Given the description of an element on the screen output the (x, y) to click on. 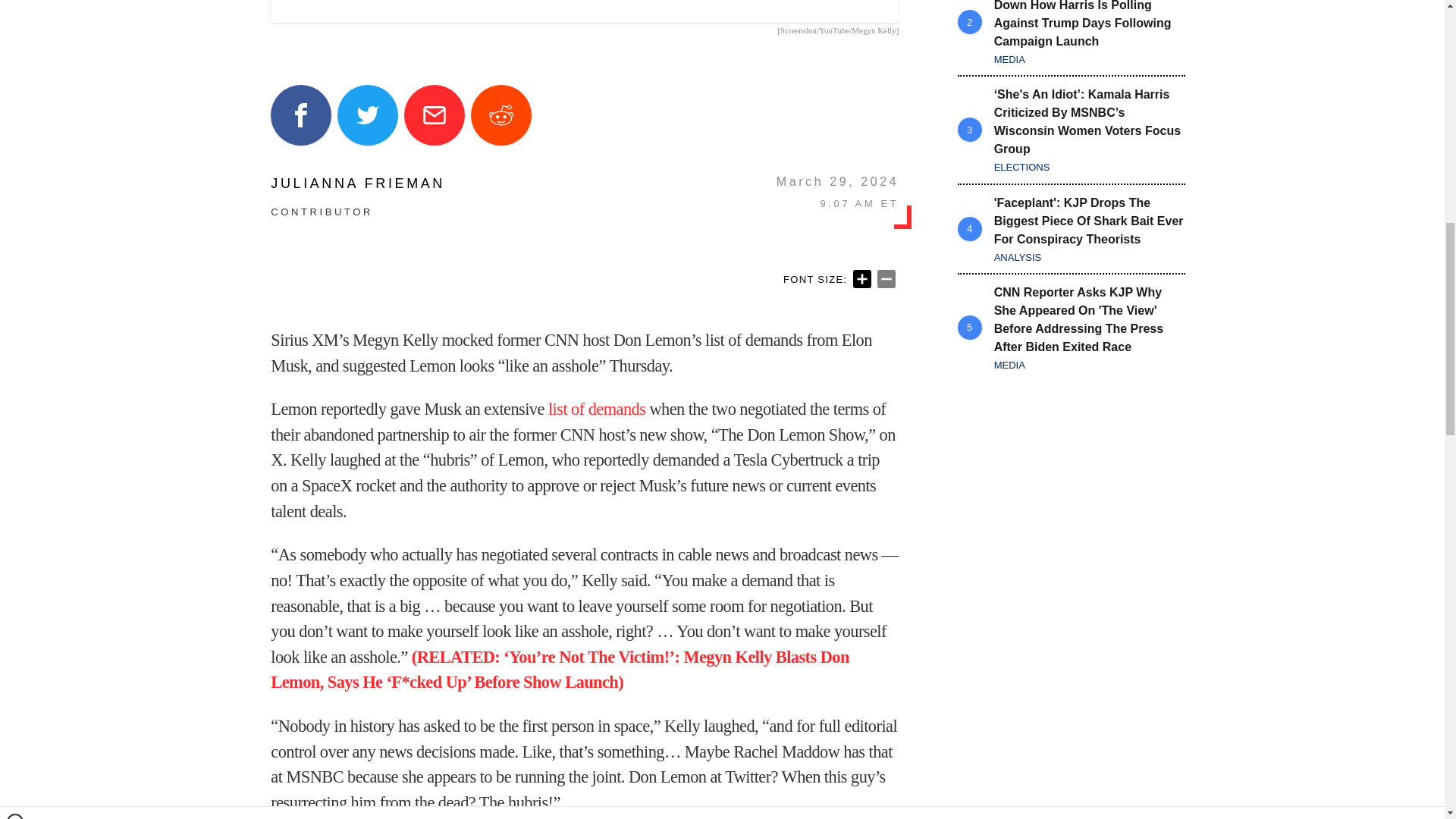
list of demands (596, 408)
Close window (14, 6)
View More Articles By Julianna Frieman (357, 183)
JULIANNA FRIEMAN (357, 183)
